Given the description of an element on the screen output the (x, y) to click on. 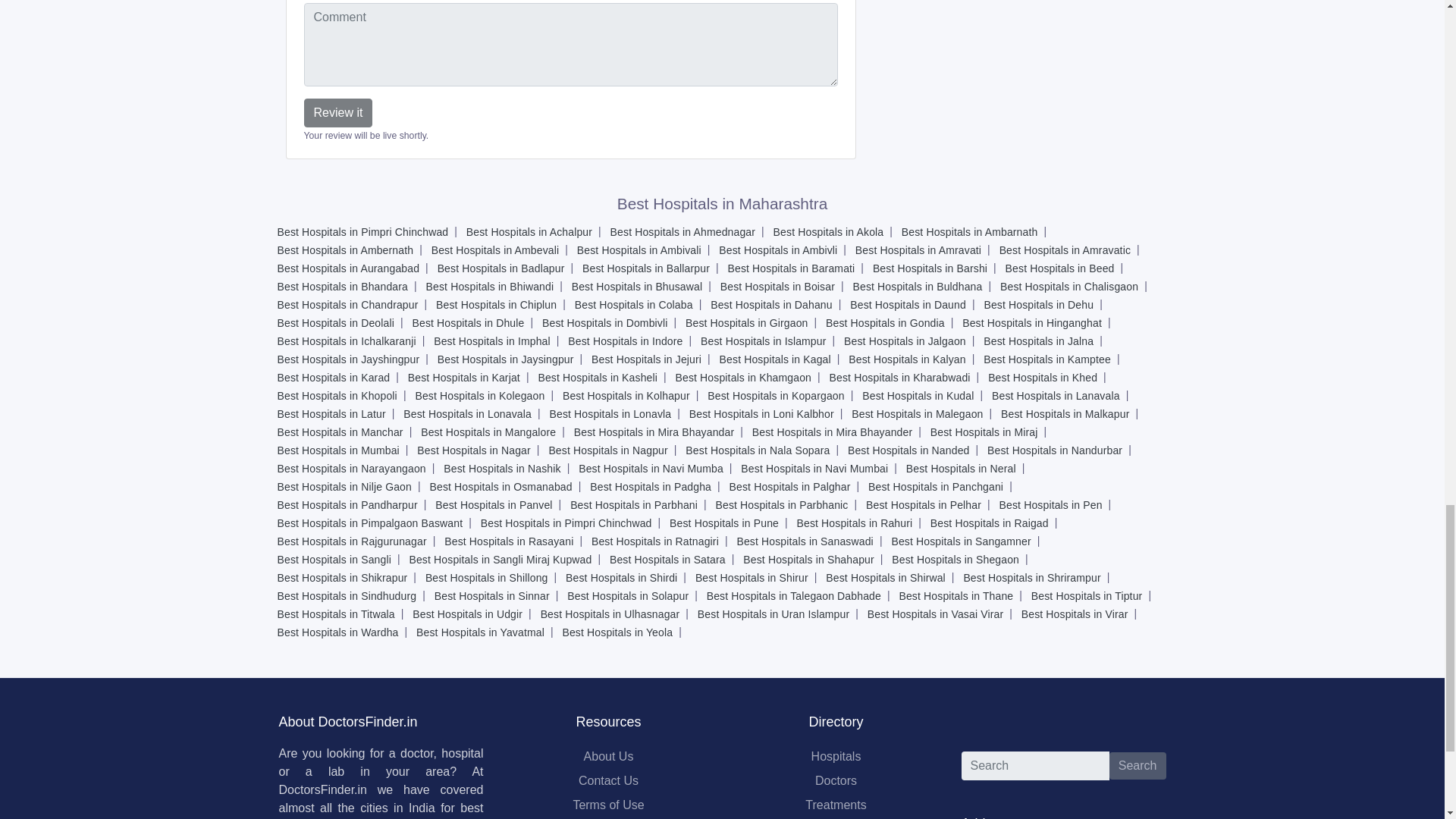
Best Hospitals in Pimpri Chinchwad (362, 231)
Best Hospitals in Achalpur (528, 231)
Review it (337, 112)
